Given the description of an element on the screen output the (x, y) to click on. 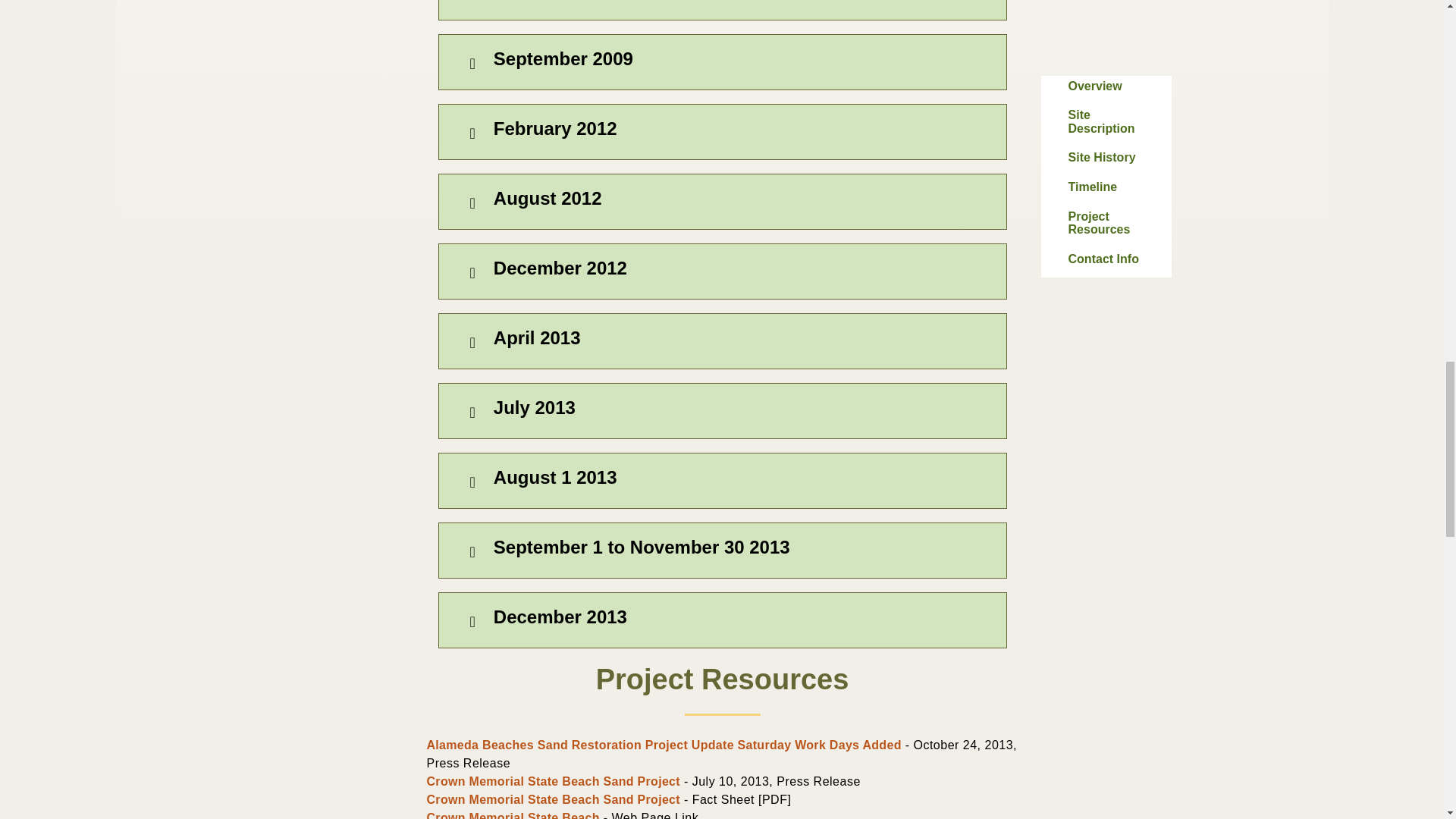
Crown Memorial State Beach Sand Facts Sheet - 07-18-2013 (552, 799)
